Given the description of an element on the screen output the (x, y) to click on. 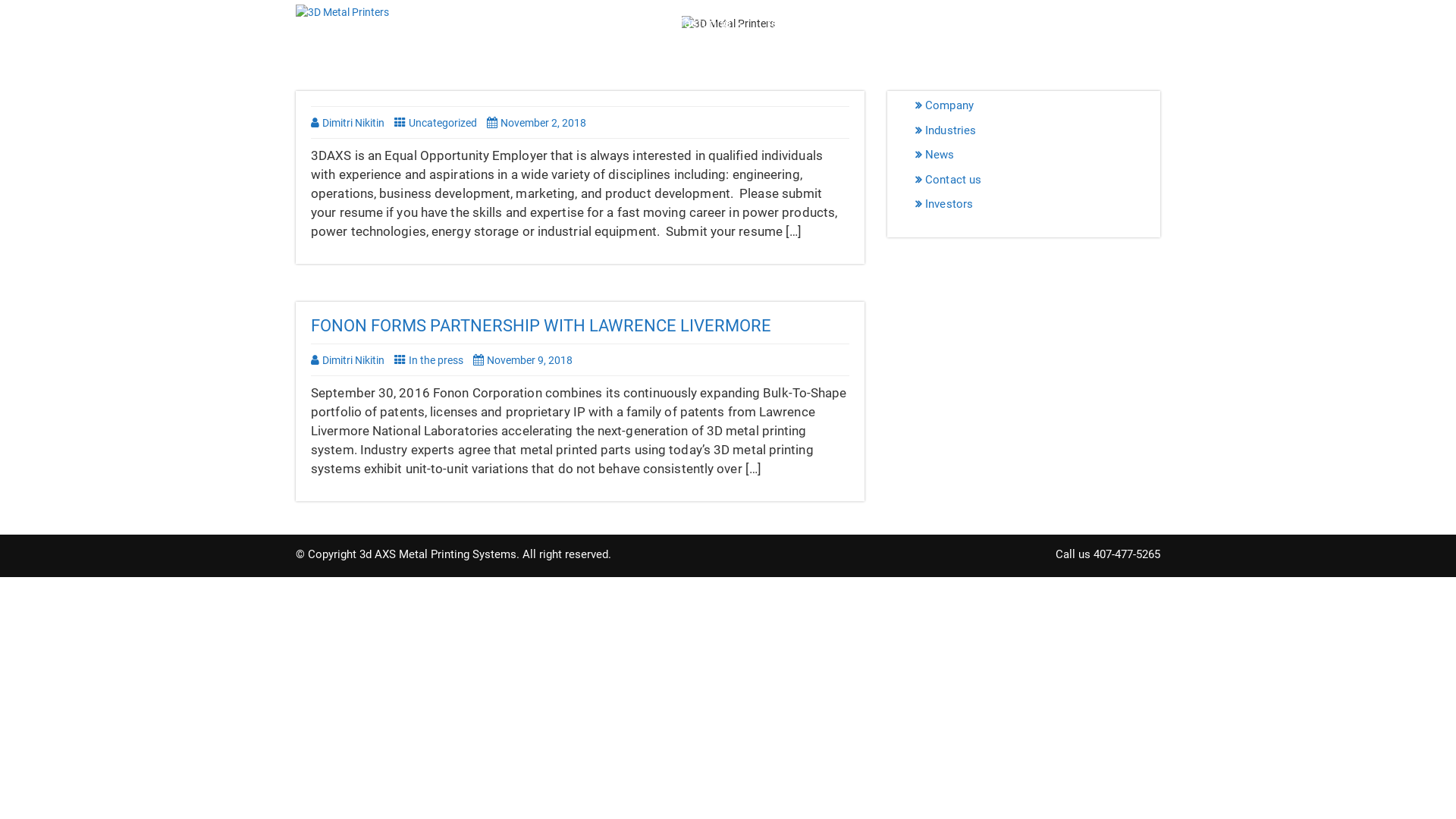
In the press Element type: text (428, 360)
Industries Element type: text (886, 22)
FONON FORMS PARTNERSHIP WITH LAWRENCE LIVERMORE Element type: text (540, 325)
Dimitri Nikitin Element type: text (347, 122)
Investors Element type: text (945, 203)
Contact us Element type: text (949, 179)
Contact us Element type: text (1128, 22)
Dimitri Nikitin Element type: text (347, 360)
News Element type: text (936, 154)
Industries Element type: text (946, 129)
Additive Manufacturing Element type: text (669, 22)
Company Element type: text (1042, 22)
Uncategorized Element type: text (435, 122)
Company Element type: text (945, 105)
Home Element type: text (557, 22)
November 2, 2018 Element type: text (539, 122)
Technology Element type: text (797, 22)
News Element type: text (965, 22)
November 9, 2018 Element type: text (526, 360)
